Given the description of an element on the screen output the (x, y) to click on. 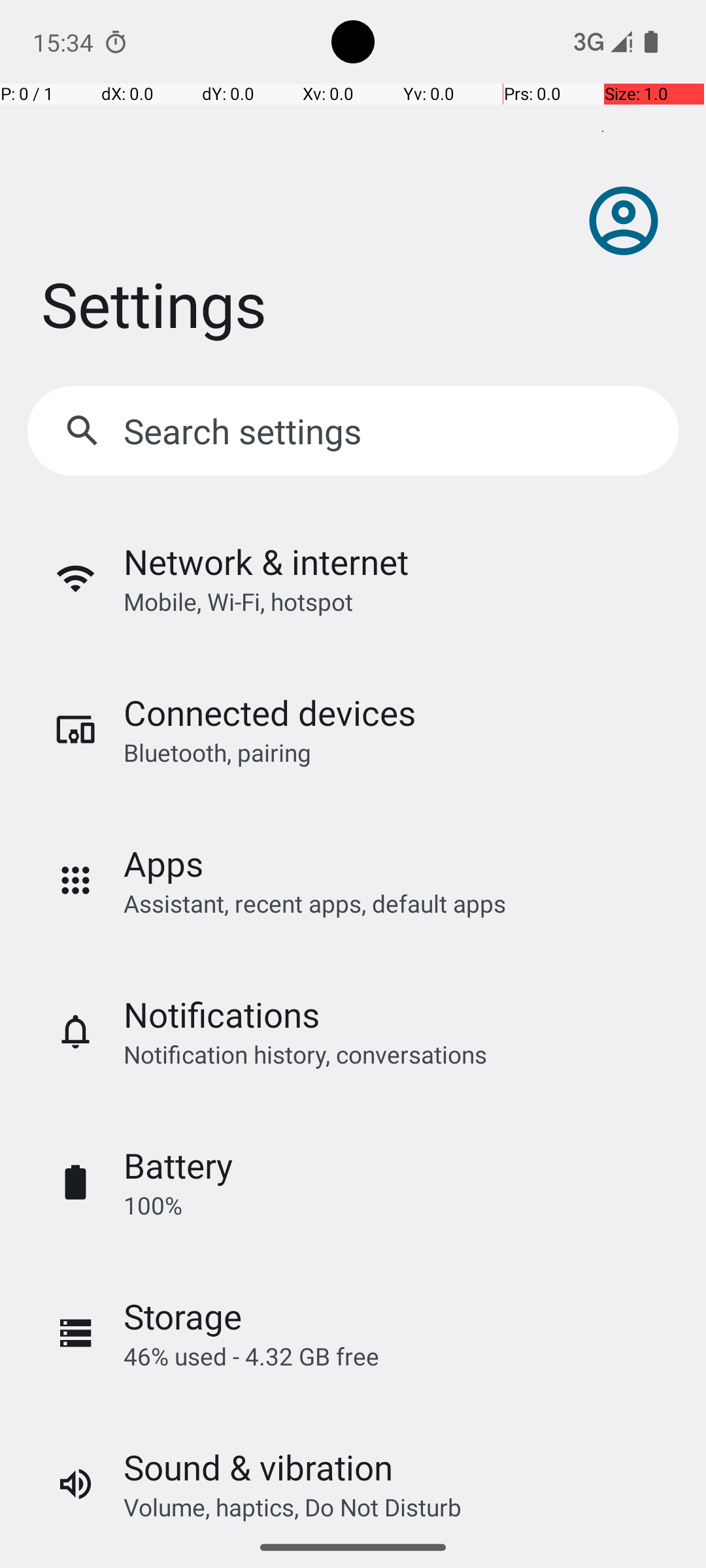
46% used - 4.32 GB free Element type: android.widget.TextView (251, 1355)
